Given the description of an element on the screen output the (x, y) to click on. 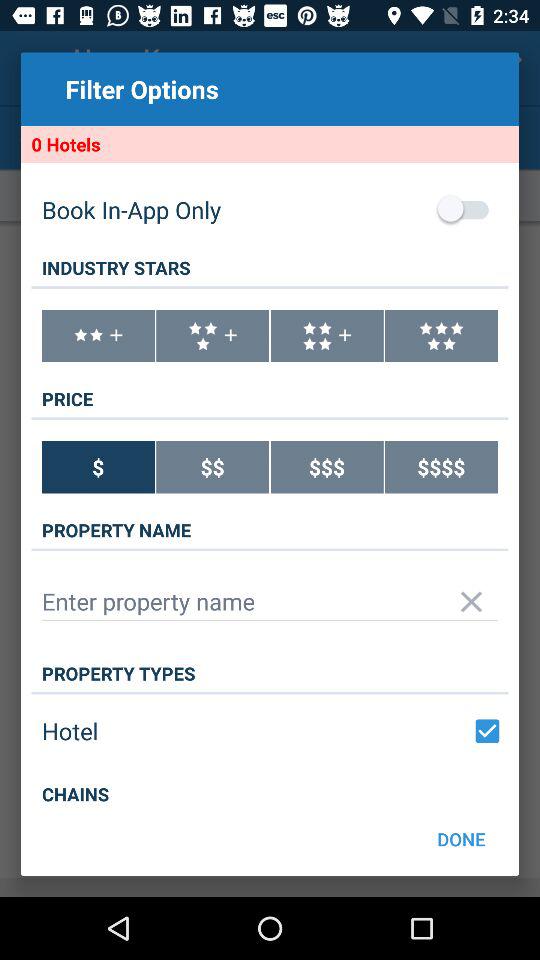
add 5 stars (441, 335)
